Given the description of an element on the screen output the (x, y) to click on. 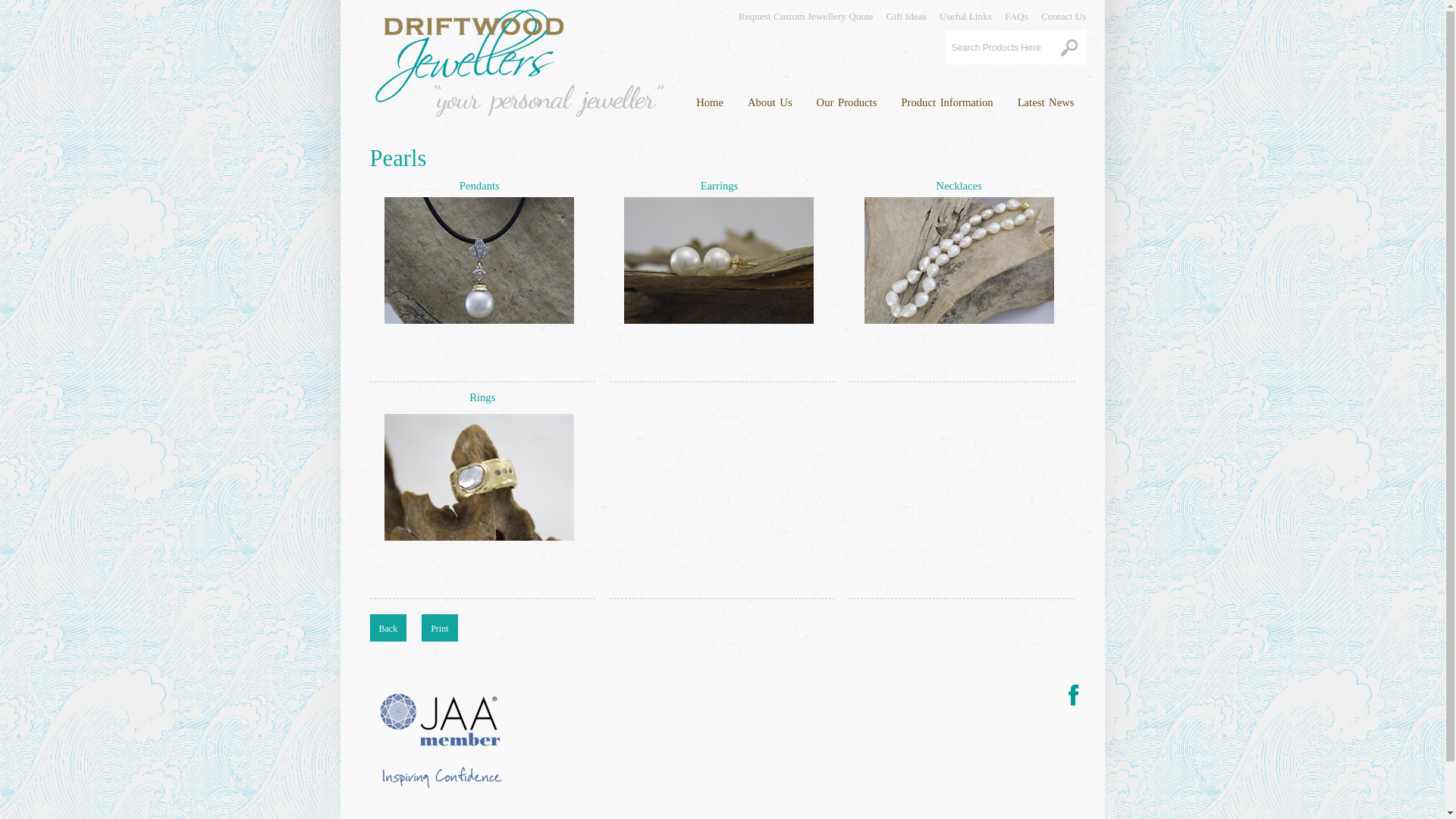
Request Custom Jewellery Quote Element type: text (799, 12)
Necklaces Element type: text (959, 185)
Earrings Element type: text (719, 185)
Contact Us Element type: text (1057, 12)
Useful Links Element type: text (958, 12)
Latest News Element type: text (1045, 98)
Our Products Element type: text (846, 98)
Product Information Element type: text (946, 98)
Print Element type: text (439, 627)
Facebook Element type: hover (1072, 695)
FAQs Element type: text (1009, 12)
About Us Element type: text (769, 98)
Home Element type: text (709, 98)
Gift Ideas Element type: text (899, 12)
Search Element type: hover (1067, 47)
Back Element type: text (388, 627)
Rings Element type: text (482, 397)
Pendants Element type: text (479, 185)
